Given the description of an element on the screen output the (x, y) to click on. 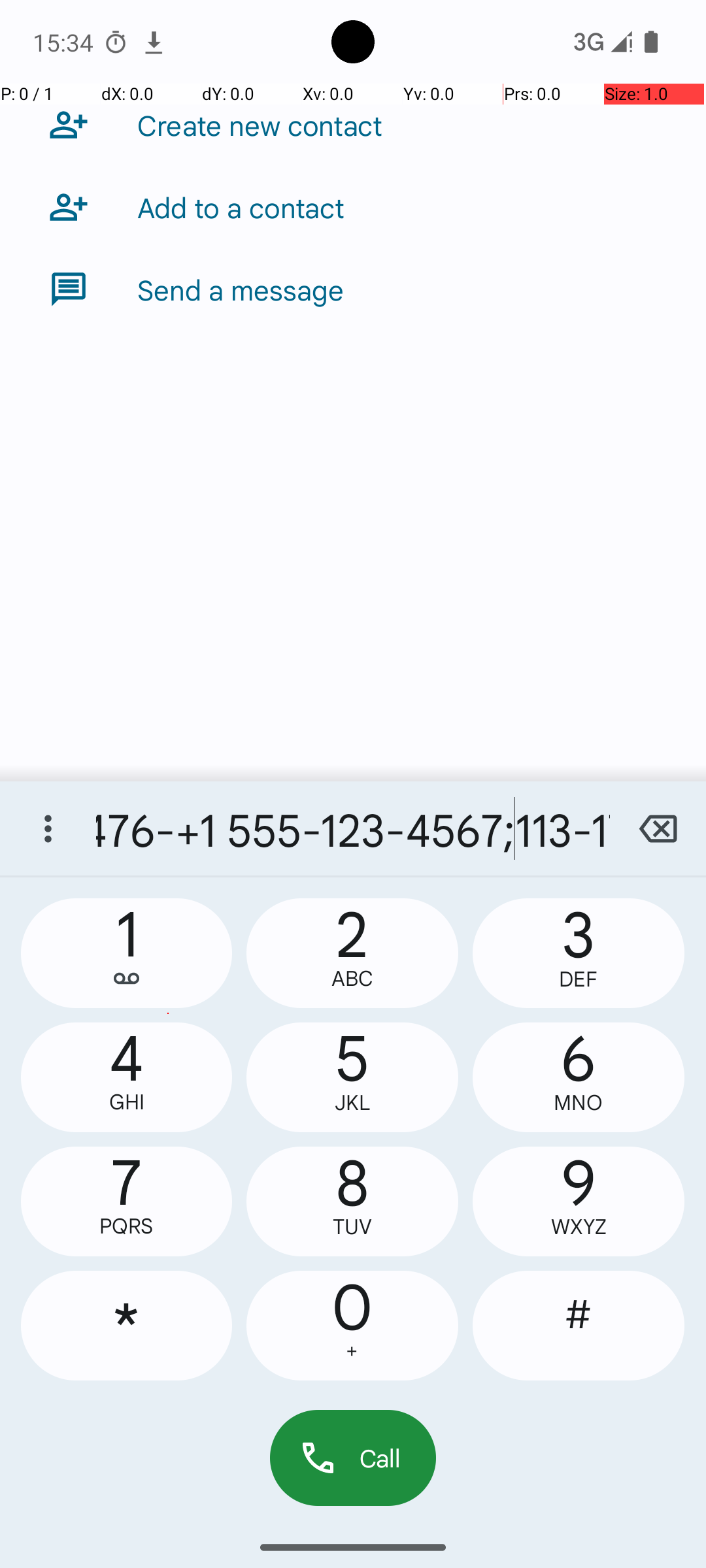
+1 476-+1 555-123-4567;113-1773 Element type: android.widget.EditText (352, 828)
